Given the description of an element on the screen output the (x, y) to click on. 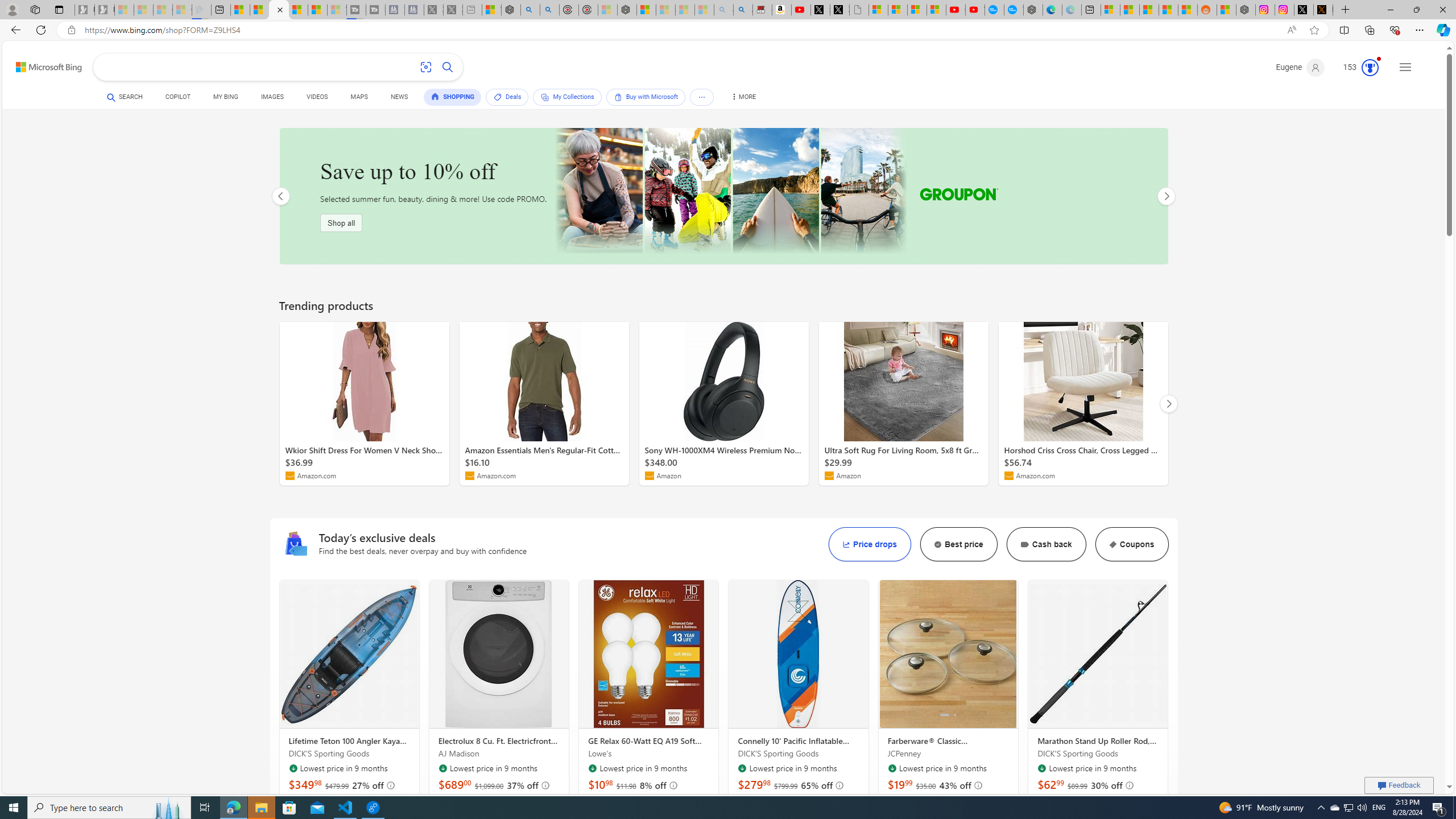
SHOPPING (452, 96)
SEARCH (124, 96)
info (1129, 785)
MAPS (358, 98)
Collections (1369, 29)
Class: b_pri_nav_svg (702, 97)
IMAGES (272, 98)
Refresh (40, 29)
VIDEOS (316, 98)
Back (13, 29)
